Given the description of an element on the screen output the (x, y) to click on. 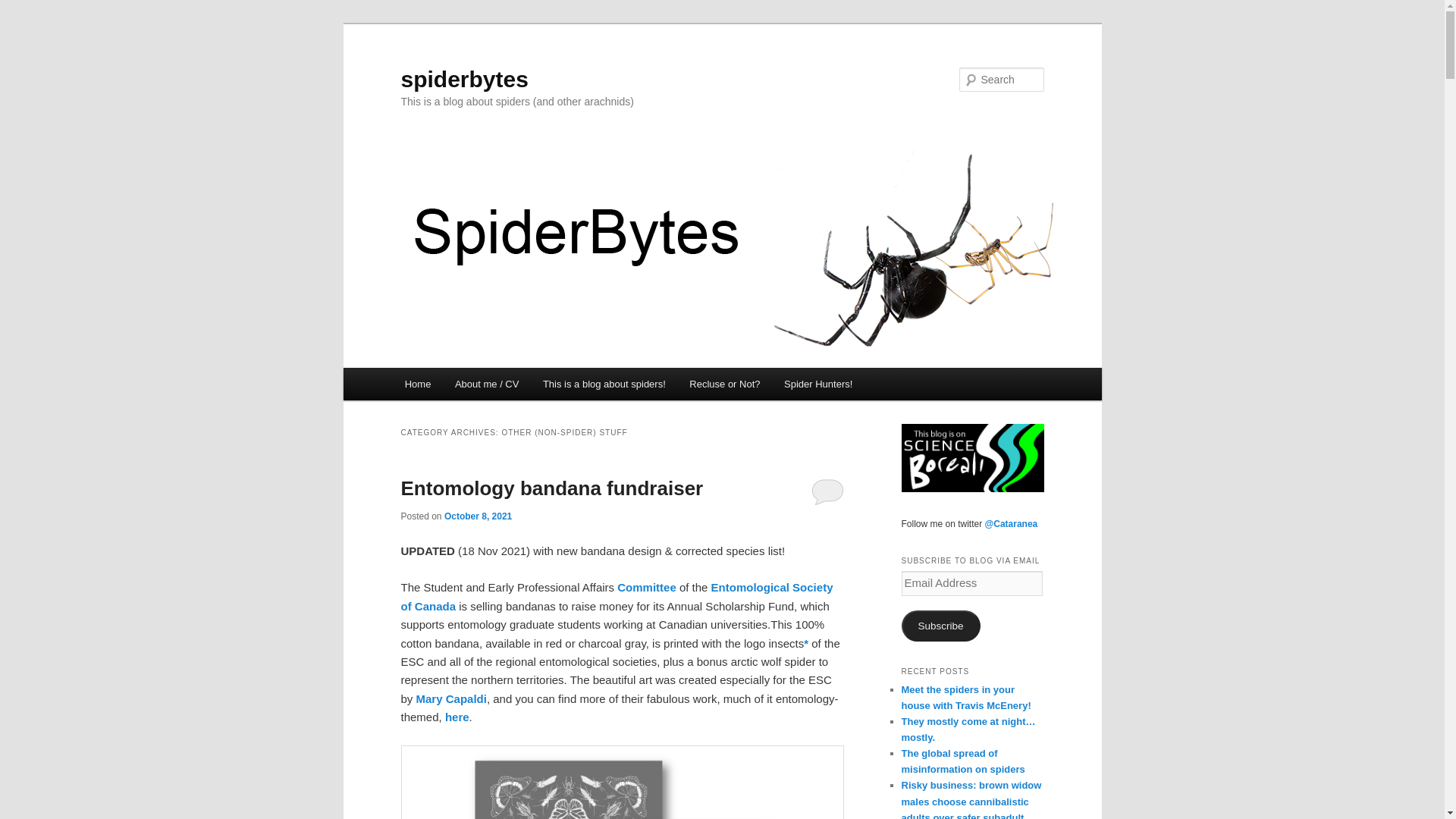
Home (417, 383)
This is a blog about spiders! (604, 383)
Search (24, 8)
Entomological Society of Canada (616, 595)
2:35 pm (478, 516)
October 8, 2021 (478, 516)
Recluse or Not? (725, 383)
spiderbytes (463, 78)
Spider Hunters! (817, 383)
